Given the description of an element on the screen output the (x, y) to click on. 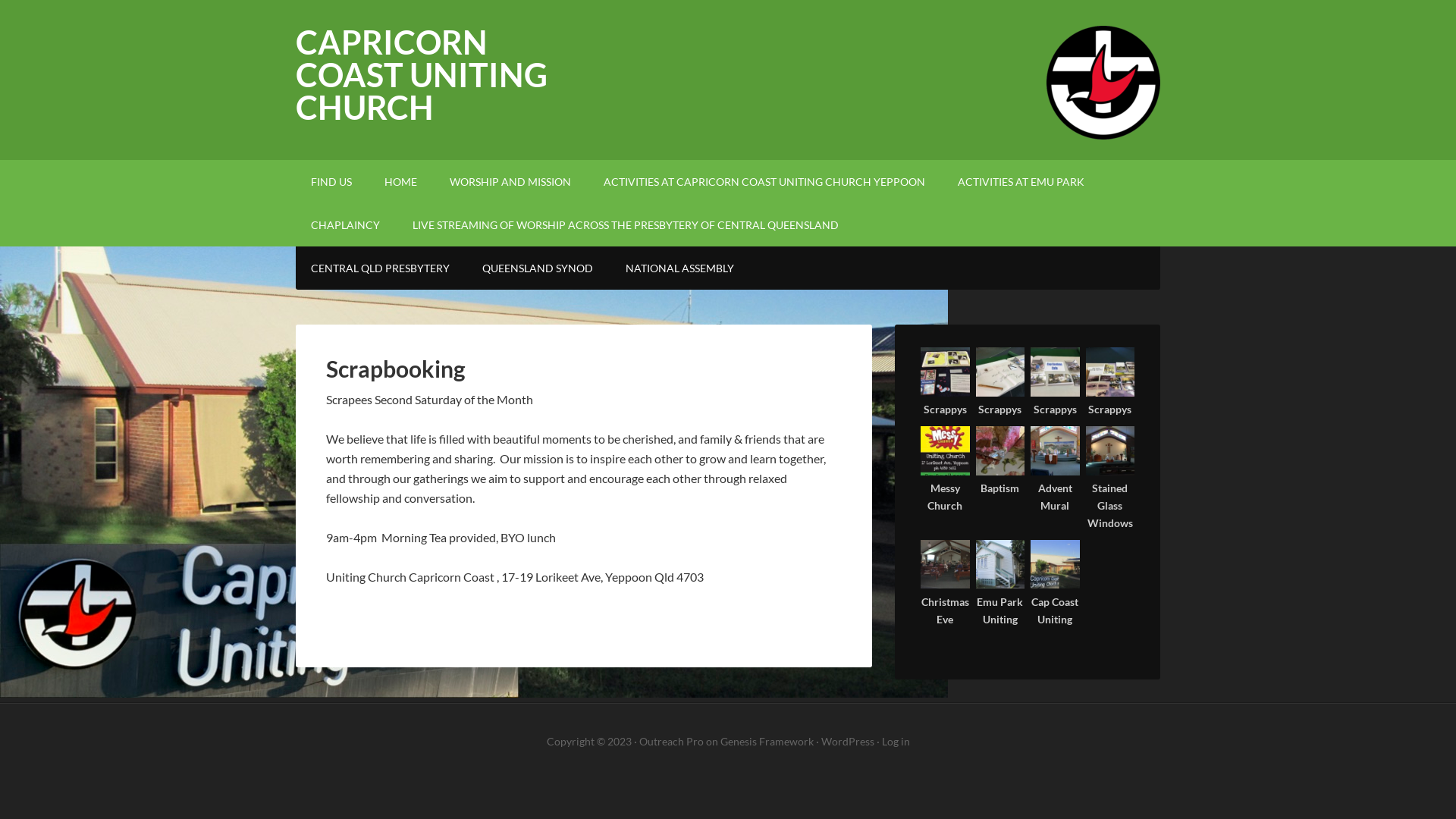
ACTIVITIES AT CAPRICORN COAST UNITING CHURCH YEPPOON Element type: text (764, 181)
Genesis Framework Element type: text (766, 740)
QUEENSLAND SYNOD Element type: text (537, 267)
HOME Element type: text (400, 181)
Log in Element type: text (895, 740)
ACTIVITIES AT EMU PARK Element type: text (1020, 181)
CHAPLAINCY Element type: text (345, 224)
FIND US Element type: text (331, 181)
Outreach Pro Element type: text (670, 740)
WORSHIP AND MISSION Element type: text (510, 181)
WordPress Element type: text (846, 740)
NATIONAL ASSEMBLY Element type: text (679, 267)
CAPRICORN COAST UNITING CHURCH Element type: text (421, 74)
CENTRAL QLD PRESBYTERY Element type: text (379, 267)
